Given the description of an element on the screen output the (x, y) to click on. 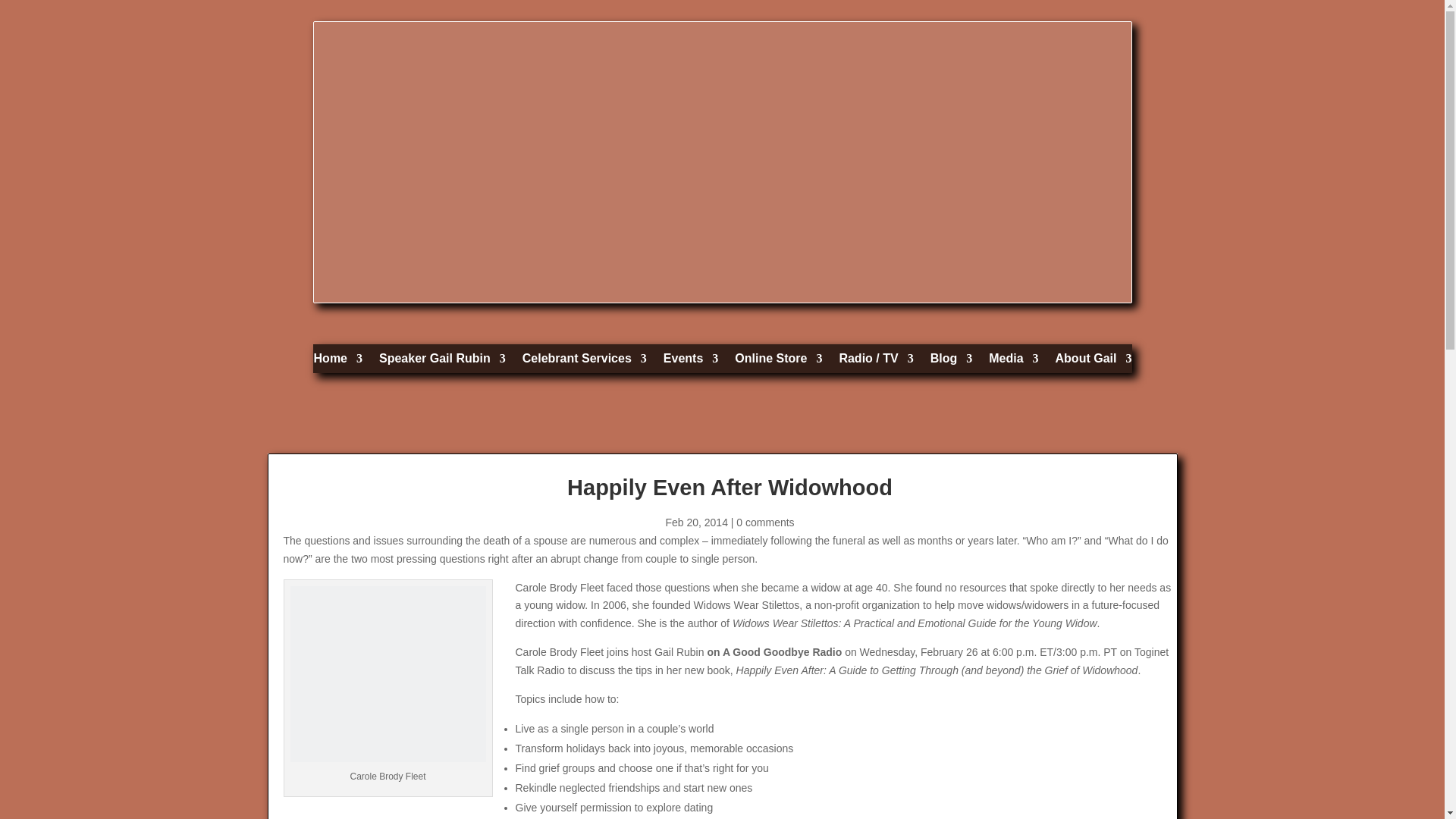
Home (338, 361)
Online Store (778, 361)
Funeral Services (584, 361)
Blog (951, 361)
About Gail (1093, 361)
Speaker Gail Rubin (441, 361)
Celebrant Services (584, 361)
Media (1013, 361)
Events (690, 361)
